Given the description of an element on the screen output the (x, y) to click on. 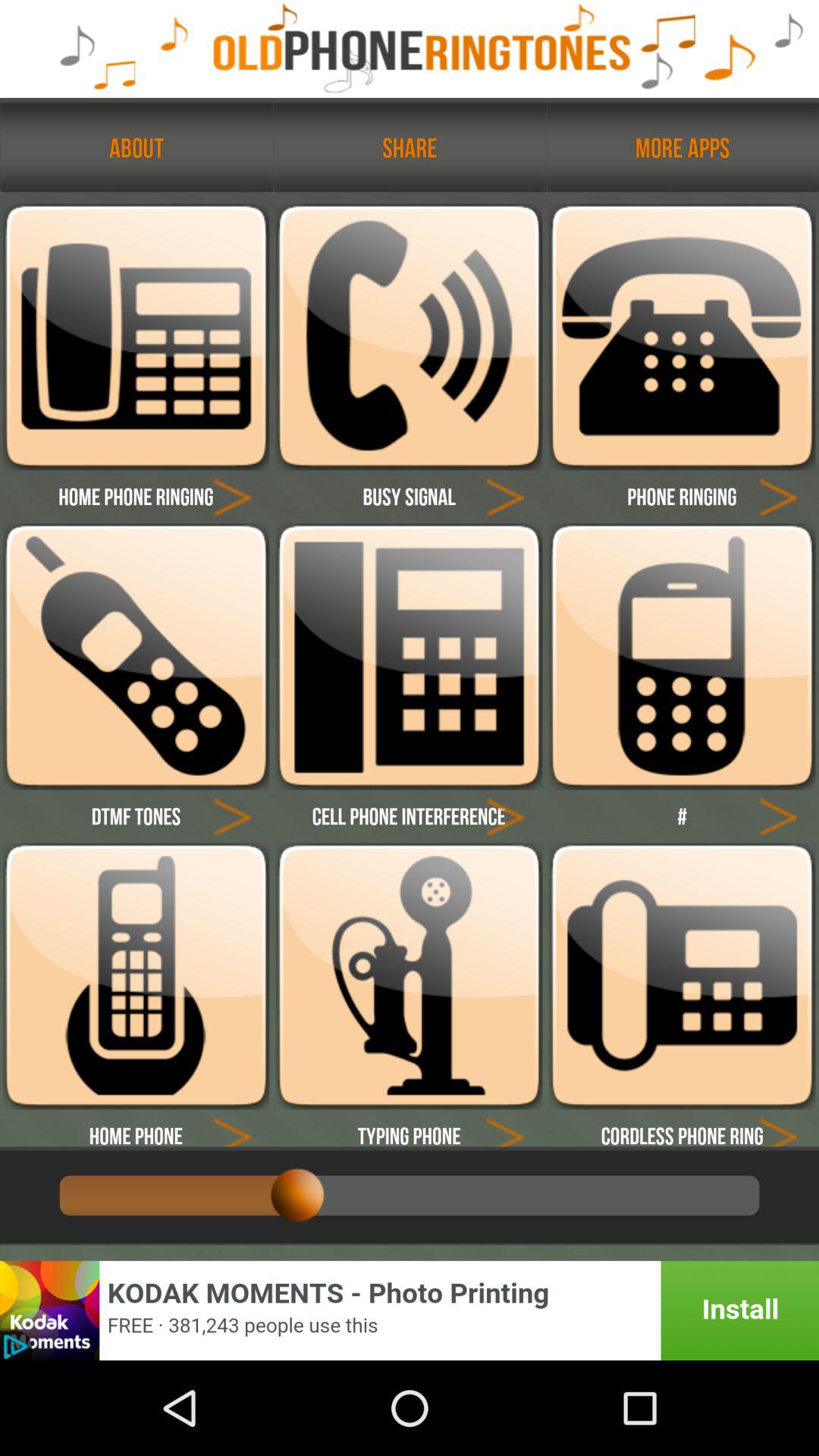
click on the icon which is below second row of third image (778, 815)
select the  symbol which is on left hand side beside the text dtmf tones (232, 815)
text called share (409, 147)
select dtmf tones (135, 816)
click on the icon arrow (505, 1128)
click the text more apps (683, 147)
text called phone ringing (681, 496)
select the option typing phone (409, 1128)
click on the home phone button at bottom left (135, 1128)
